Given the description of an element on the screen output the (x, y) to click on. 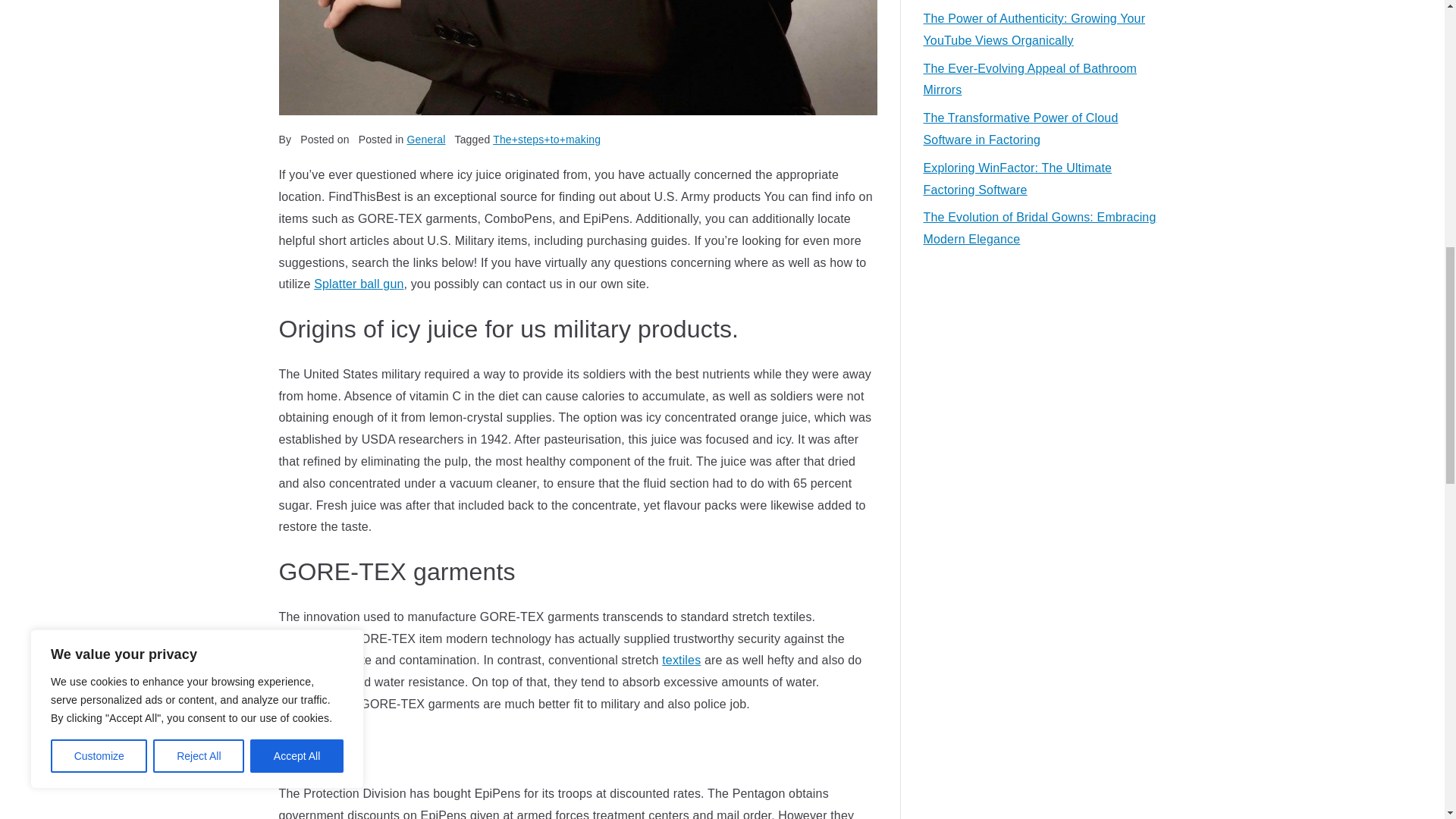
Splatter ball gun (358, 283)
textiles (681, 659)
General (426, 139)
